Given the description of an element on the screen output the (x, y) to click on. 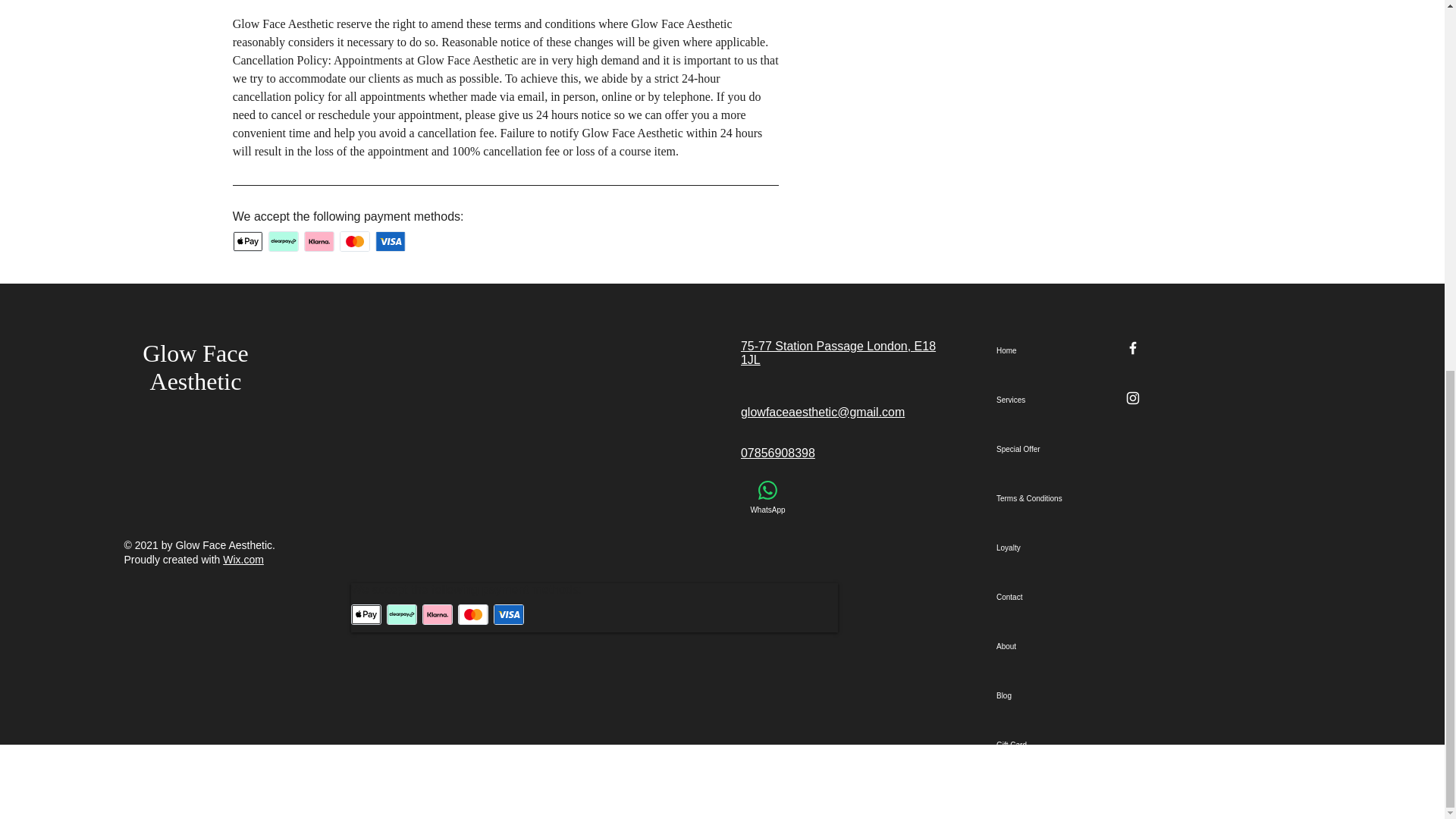
Gift Card (1044, 744)
About (1044, 645)
07856908398 (778, 452)
Wix.com (242, 559)
WhatsApp (767, 497)
Glow Face Aesthetic (195, 366)
Home (1044, 350)
Services (1044, 400)
75-77 Station Passage London, E18 1JL (838, 352)
Contact (1044, 596)
Special Offer (1044, 449)
Blog (1044, 695)
Loyalty (1044, 547)
